Given the description of an element on the screen output the (x, y) to click on. 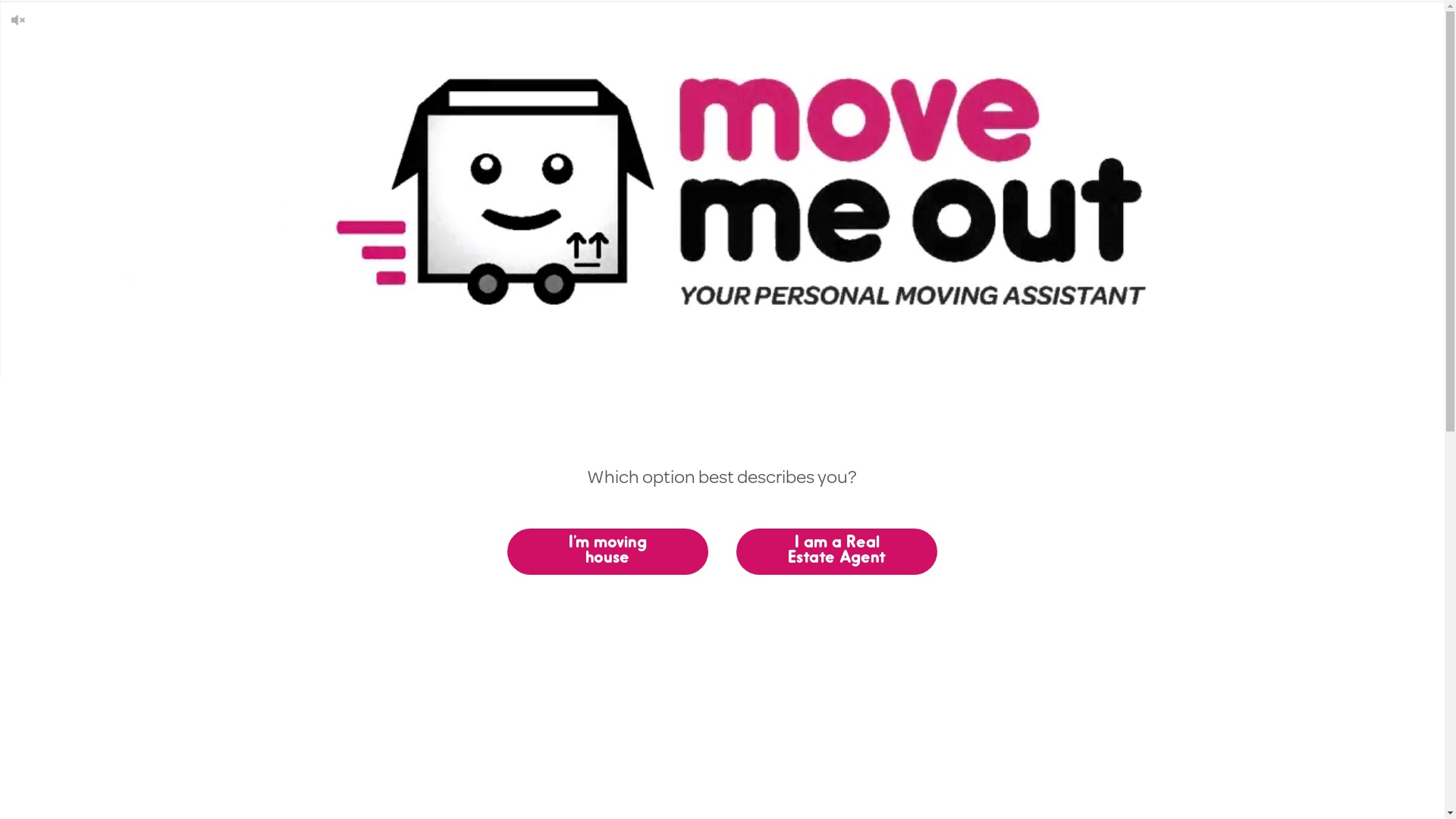
I am a Real
Estate Agent Element type: text (836, 551)
